Given the description of an element on the screen output the (x, y) to click on. 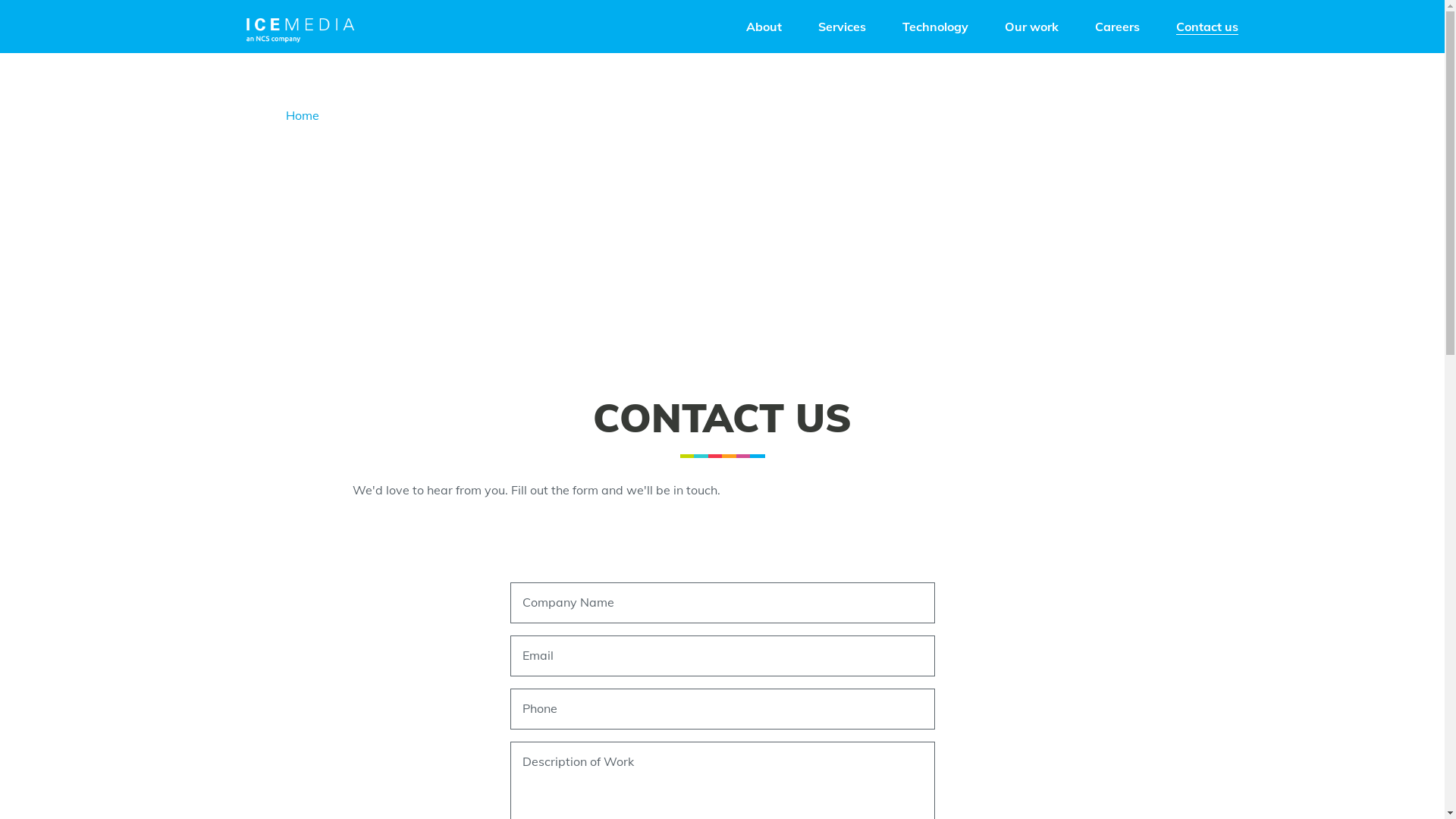
Services Element type: text (841, 26)
Home Element type: text (301, 114)
About Element type: text (763, 26)
Our work Element type: text (1030, 26)
Careers Element type: text (1117, 26)
Technology Element type: text (935, 26)
Contact us Element type: text (1206, 26)
